Given the description of an element on the screen output the (x, y) to click on. 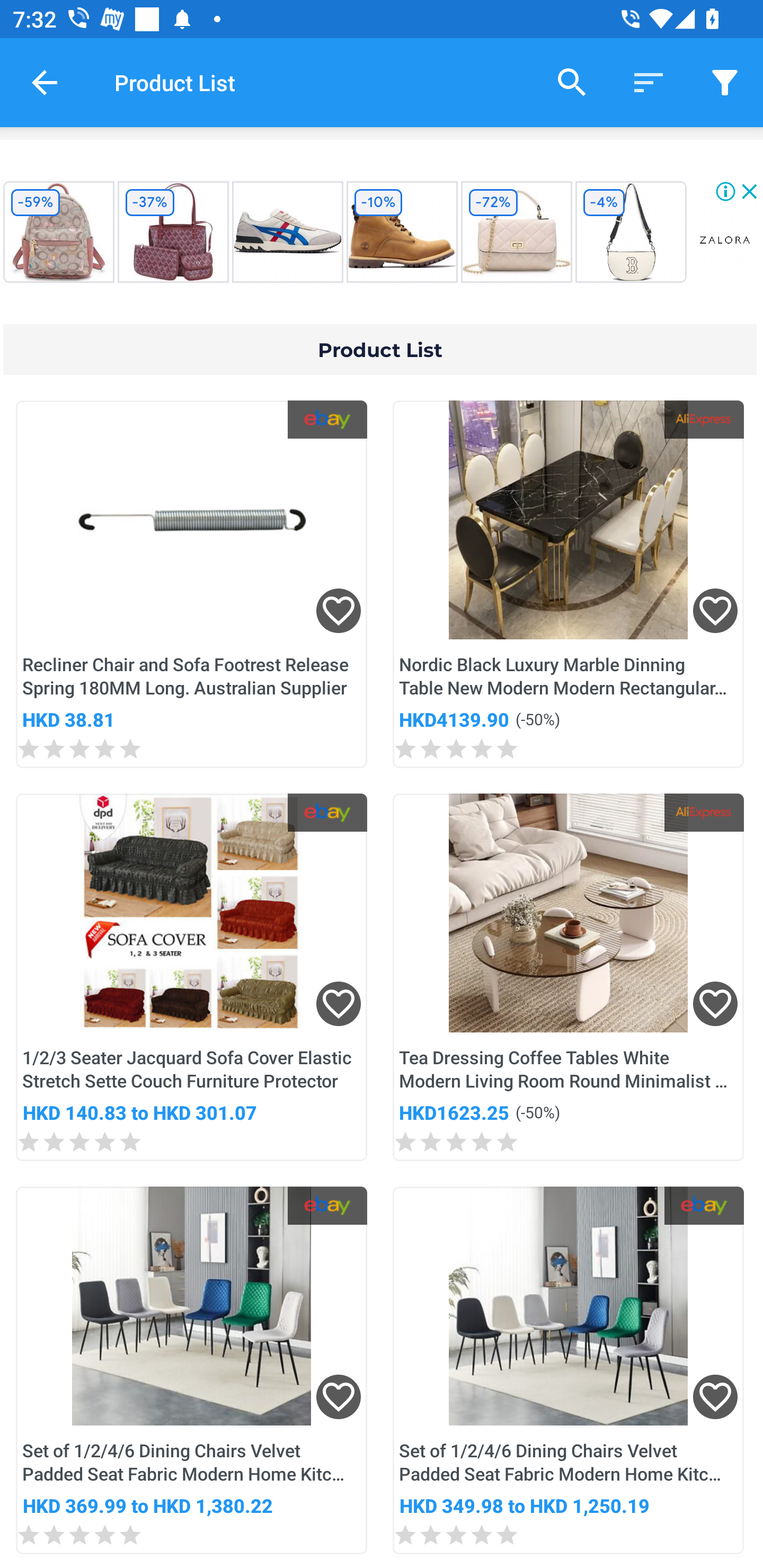
Navigate up (44, 82)
Search (572, 81)
short (648, 81)
short (724, 81)
-59% (58, 231)
-37% (173, 231)
-10% (401, 231)
-72% (516, 231)
-4% (630, 231)
